Given the description of an element on the screen output the (x, y) to click on. 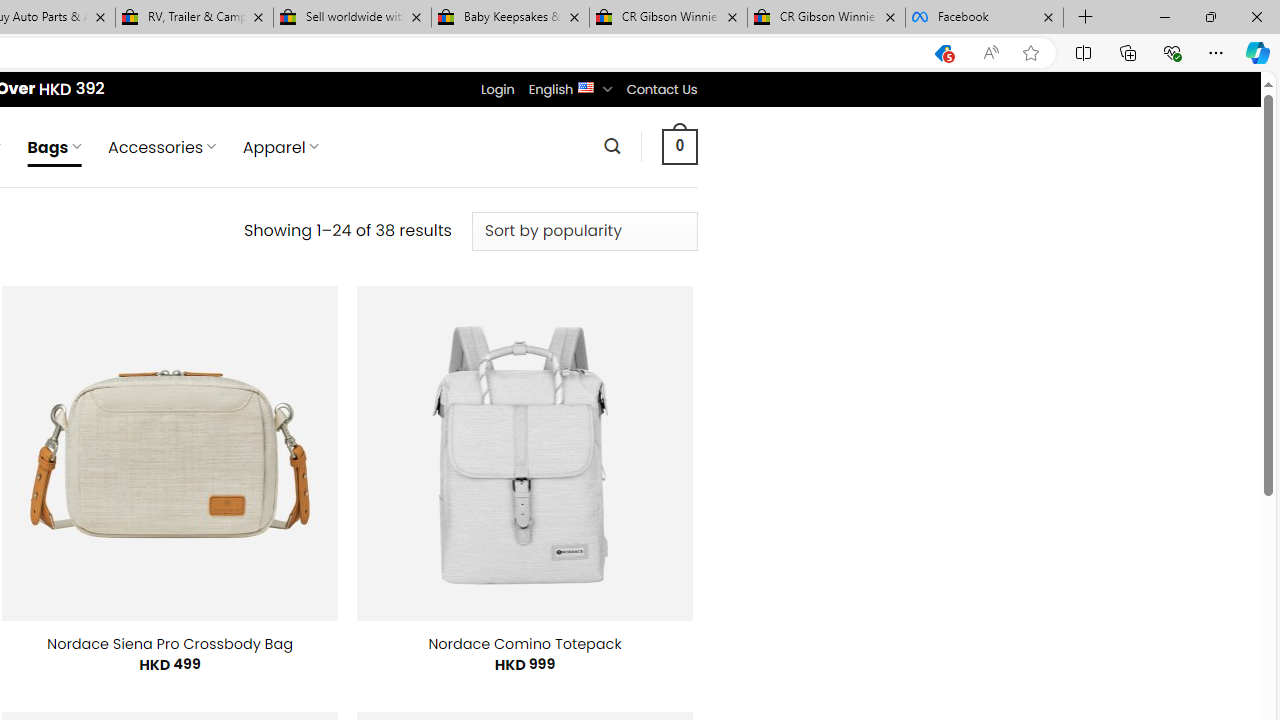
Nordace Siena Pro Crossbody Bag (170, 643)
Nordace Comino Totepack (524, 643)
